Given the description of an element on the screen output the (x, y) to click on. 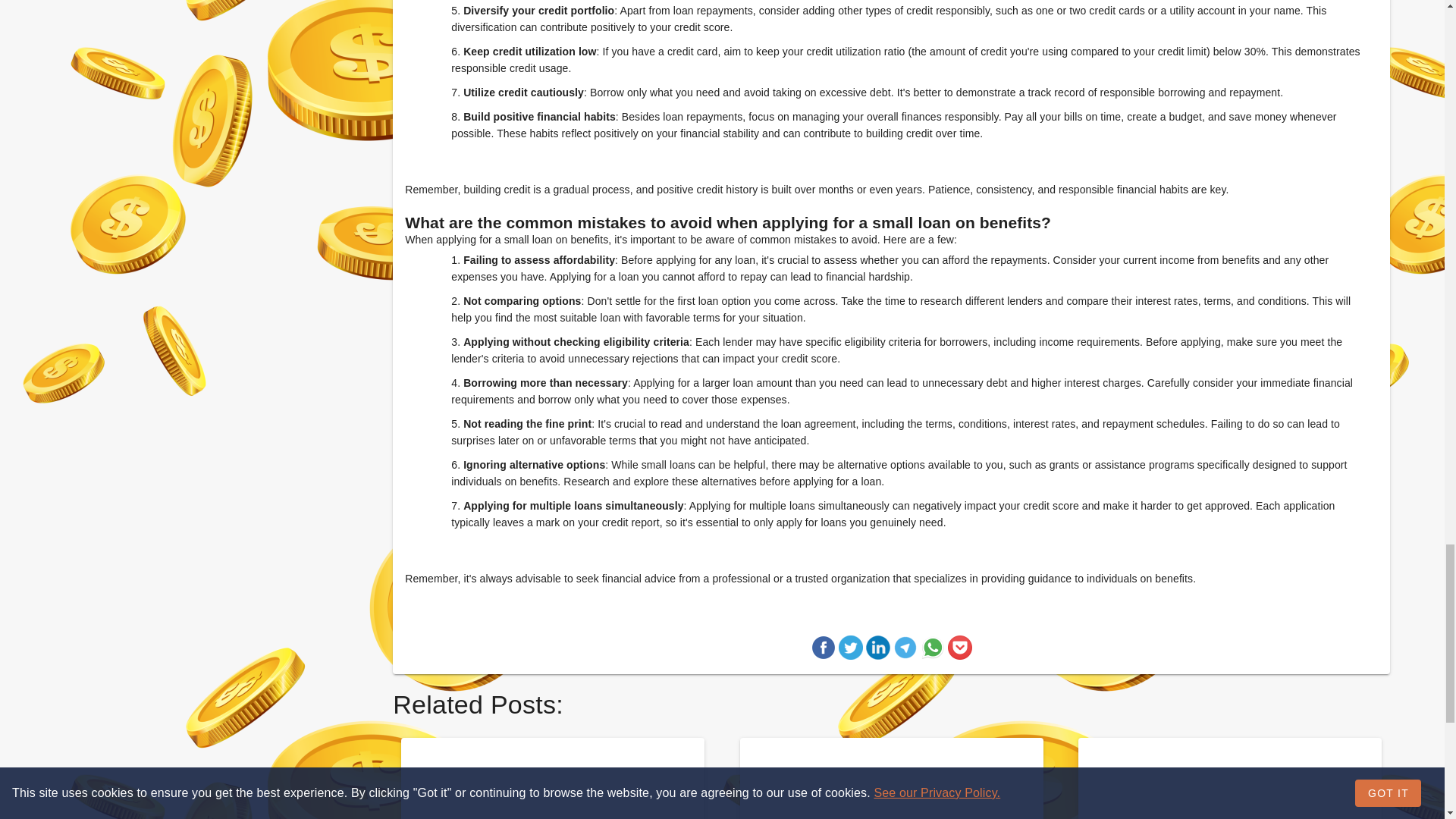
Telegram (905, 650)
Facebook (822, 650)
Pocket (959, 650)
Whatsapp (932, 650)
Twitter (850, 650)
LinkedIn (877, 650)
